Given the description of an element on the screen output the (x, y) to click on. 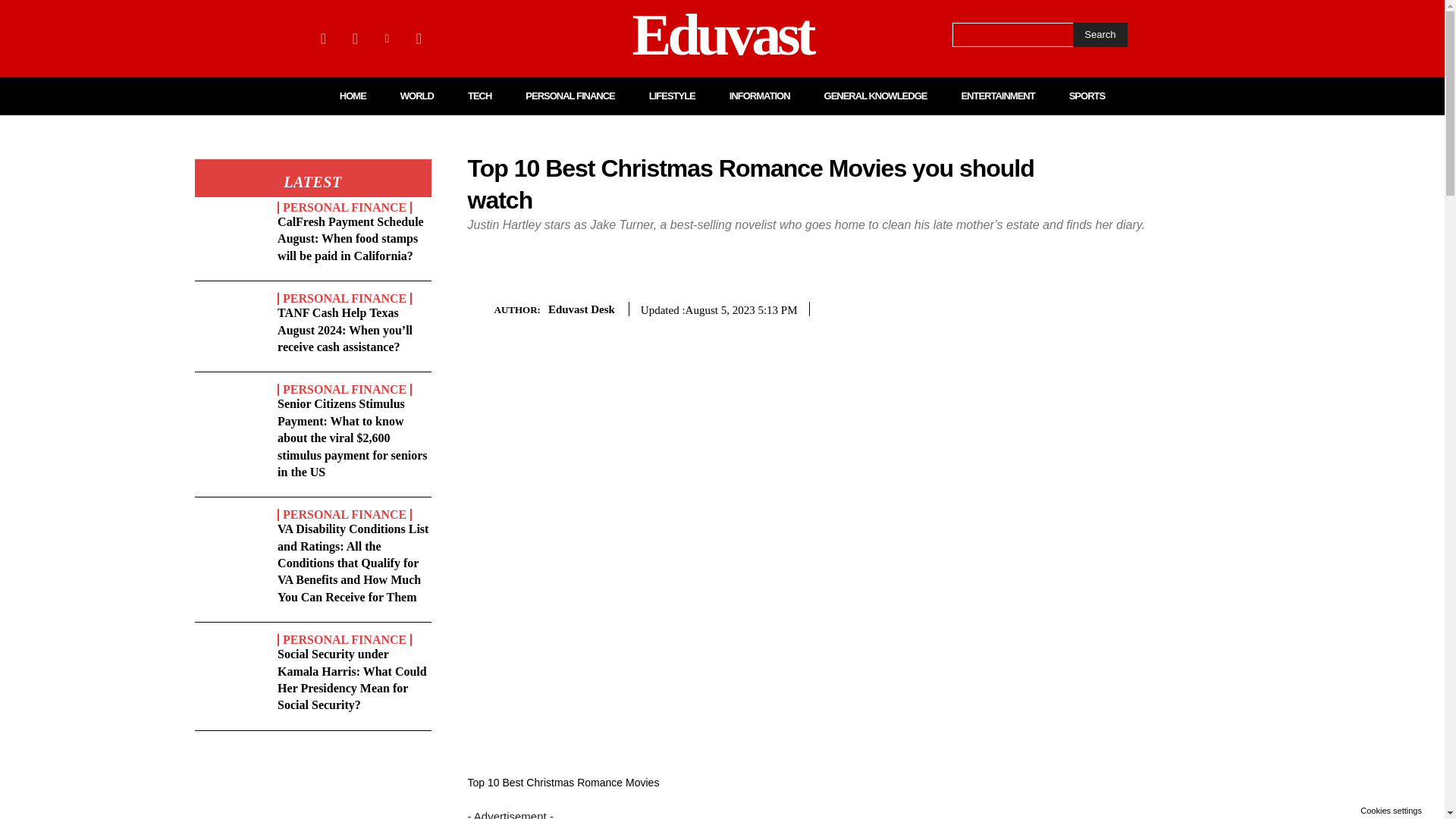
Eduvast (722, 38)
Twitter (418, 38)
Linkedin (386, 38)
Facebook (322, 38)
PERSONAL FINANCE (345, 298)
LIFESTYLE (672, 95)
PERSONAL FINANCE (569, 95)
HOME (352, 95)
PERSONAL FINANCE (345, 207)
INFORMATION (759, 95)
